Given the description of an element on the screen output the (x, y) to click on. 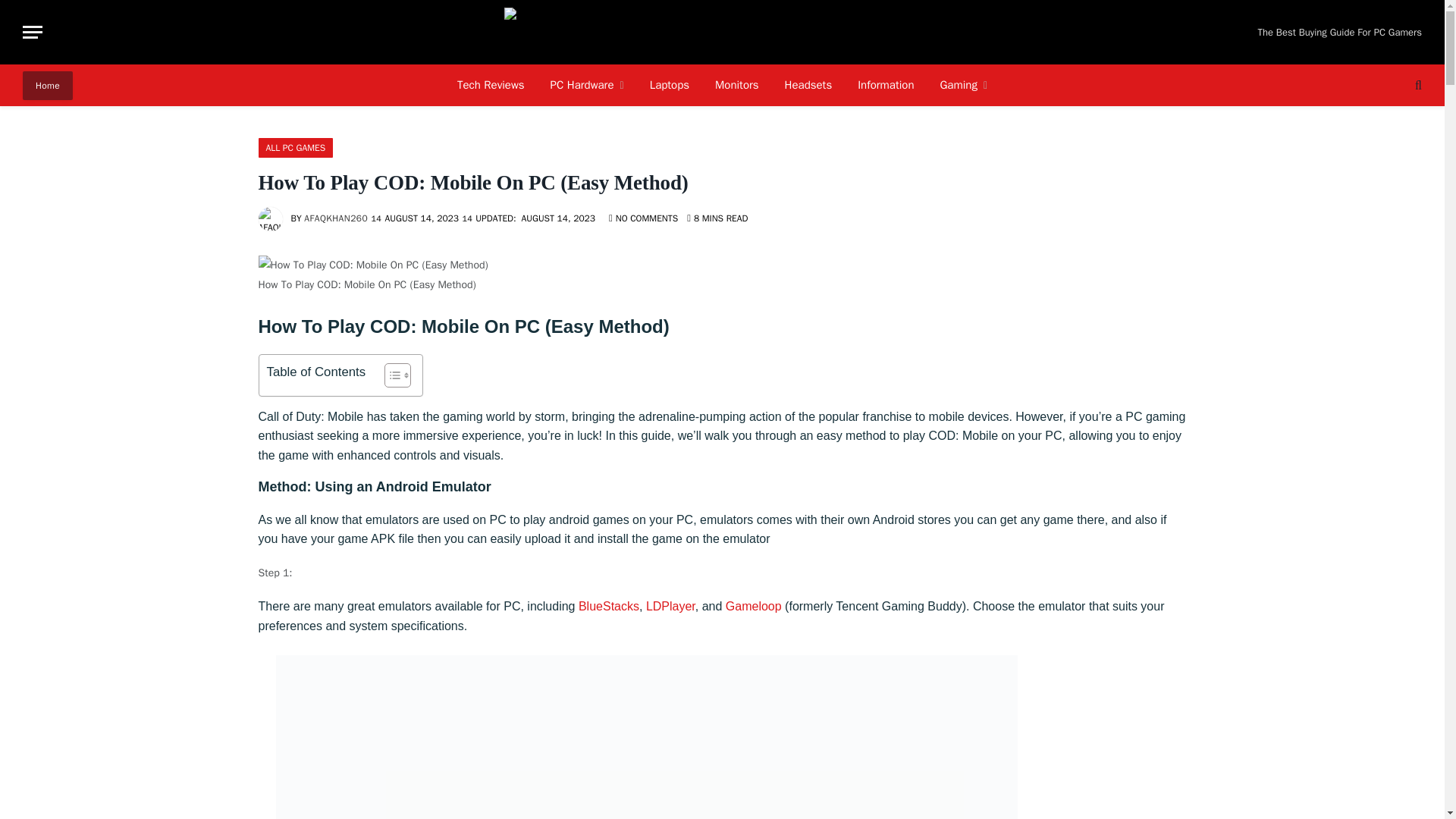
Search (1417, 84)
Home (47, 85)
PC Hardware (587, 85)
Tech Reviews (490, 85)
PCSavage (721, 32)
Posts by Afaqkhan260 (336, 218)
